Given the description of an element on the screen output the (x, y) to click on. 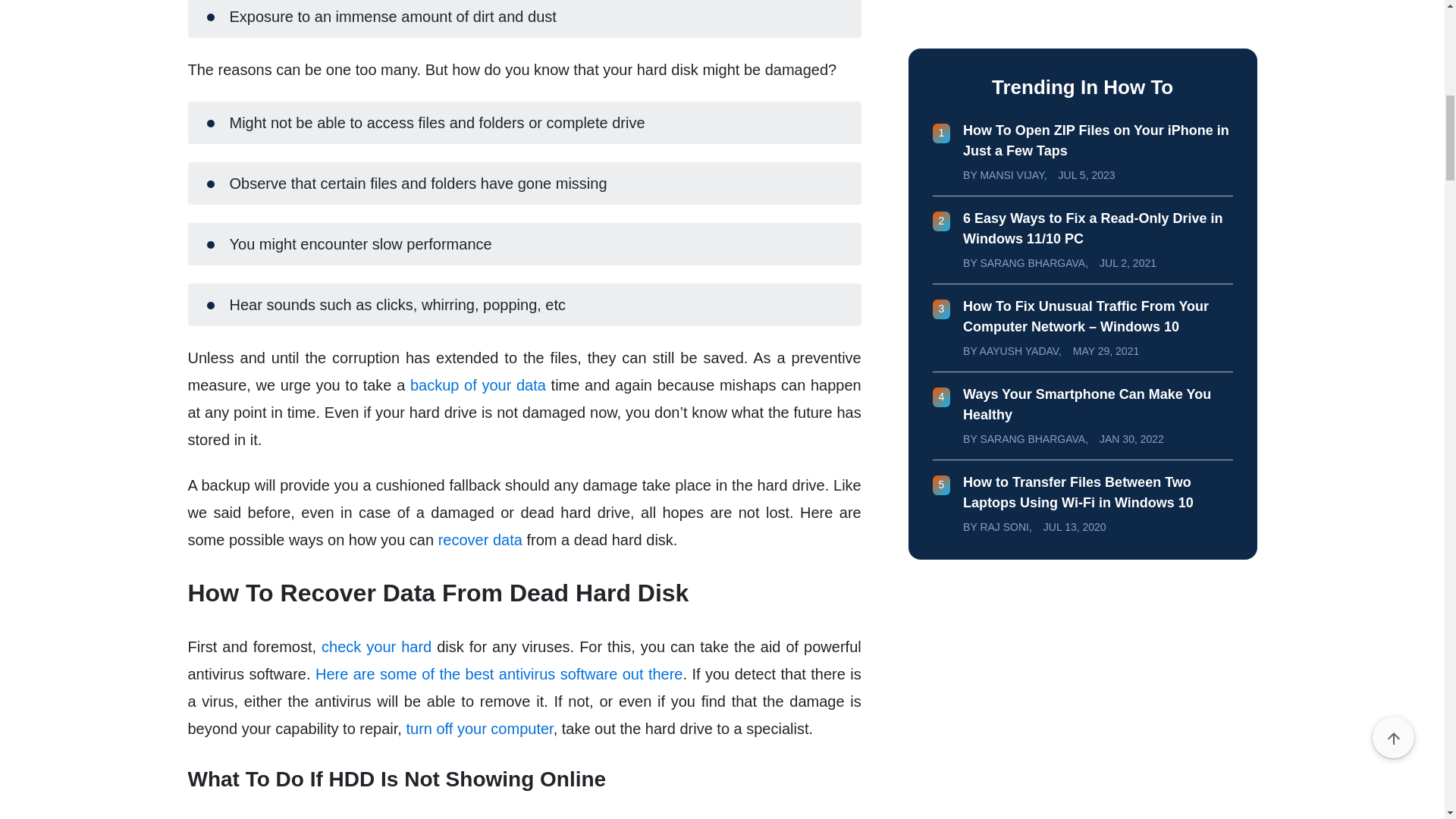
check your hard (375, 646)
backup of your data (478, 384)
turn off your computer (479, 728)
Here are some of the best antivirus software out there (498, 673)
recover data (480, 539)
